Given the description of an element on the screen output the (x, y) to click on. 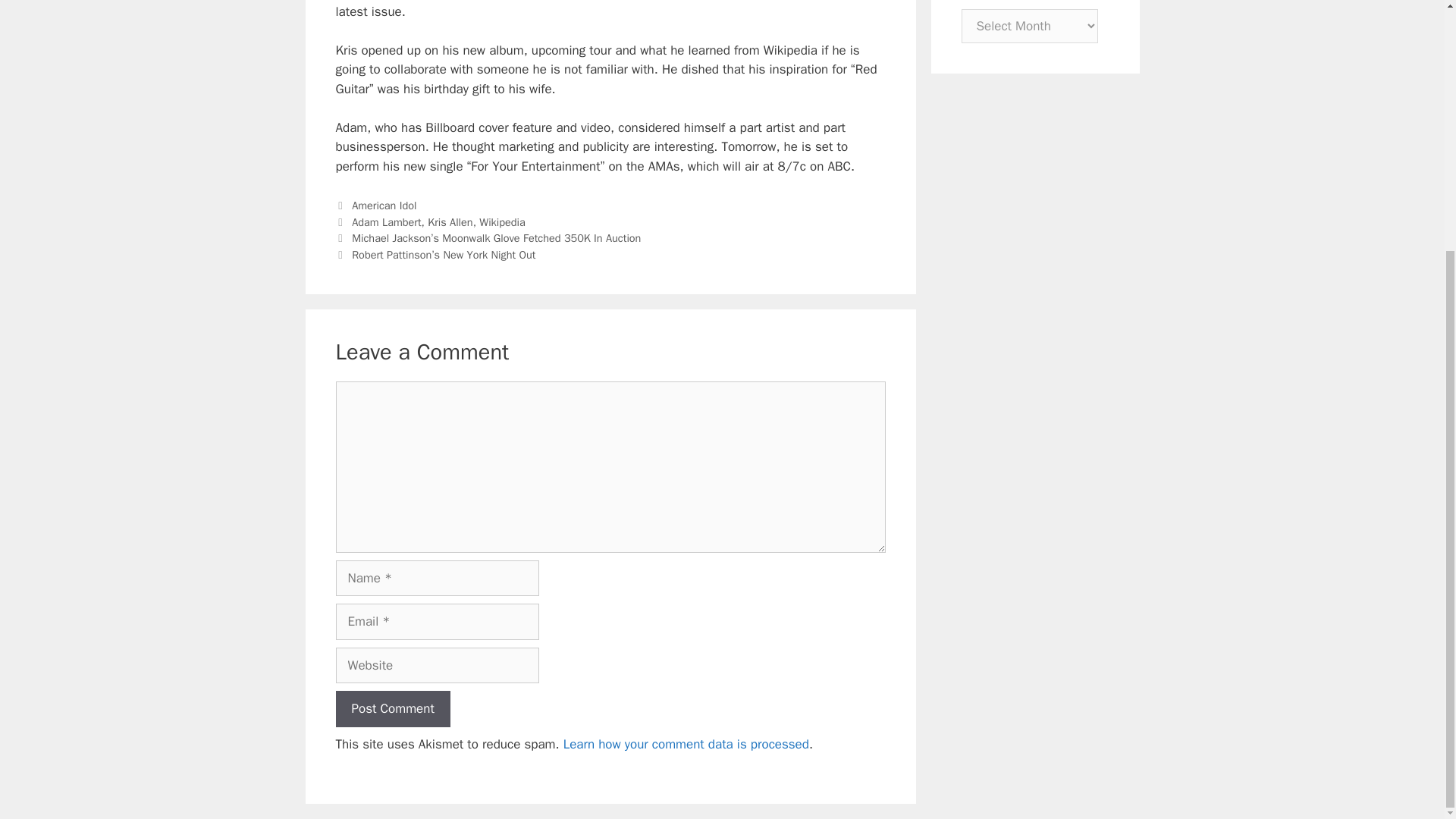
Learn how your comment data is processed (686, 744)
Kris Allen (449, 222)
Post Comment (391, 709)
Adam Lambert (386, 222)
Wikipedia (502, 222)
American Idol (384, 205)
Post Comment (391, 709)
